Given the description of an element on the screen output the (x, y) to click on. 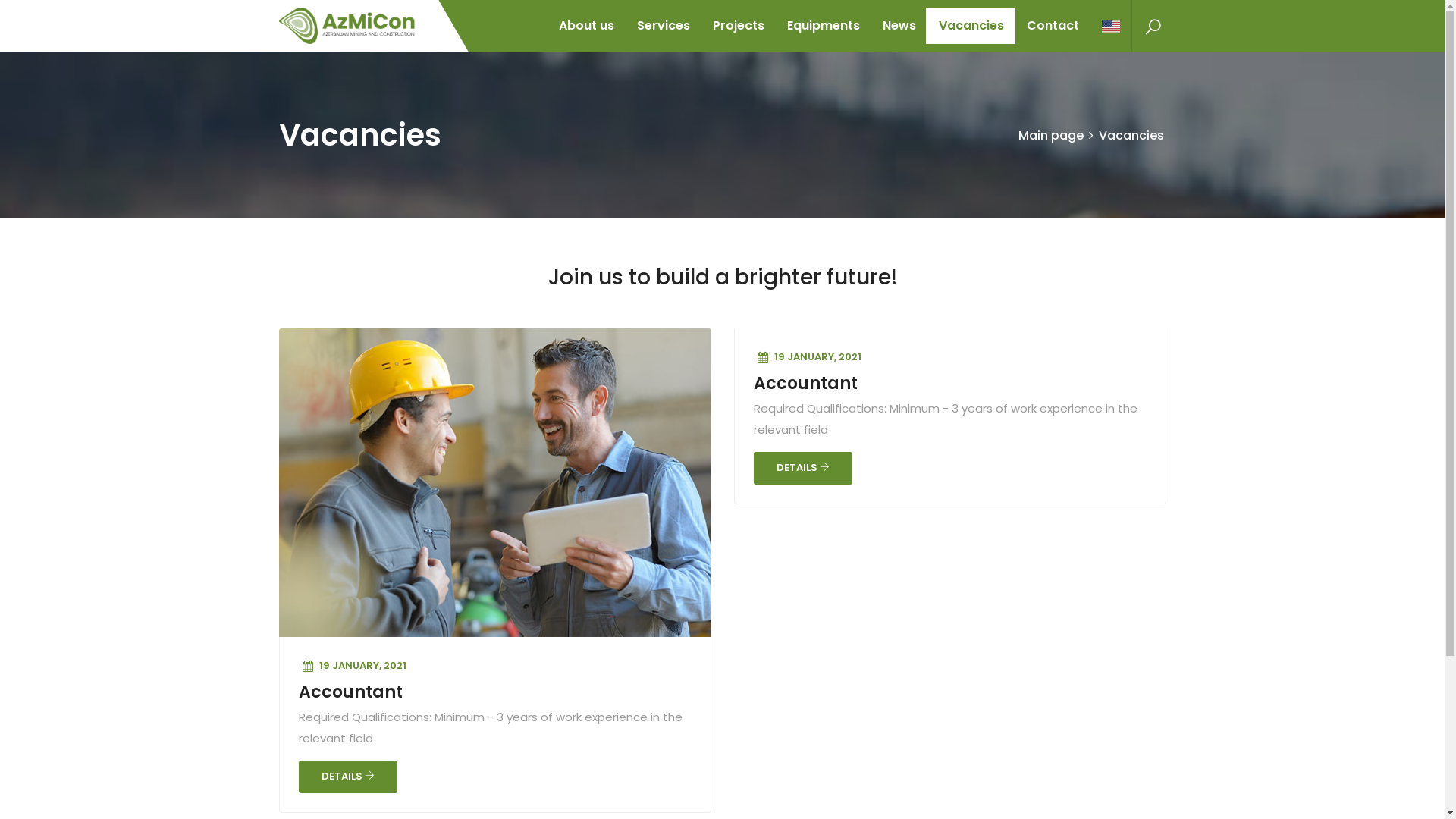
DETAILS Element type: text (347, 776)
Main page Element type: text (1049, 134)
News Element type: text (898, 25)
DETAILS Element type: text (802, 467)
Vacancies Element type: text (970, 25)
Services Element type: text (662, 25)
Equipments Element type: text (822, 25)
Projects Element type: text (737, 25)
Contact Element type: text (1051, 25)
Accountant Element type: text (350, 691)
About us Element type: text (586, 25)
Accountant Element type: text (805, 383)
